Given the description of an element on the screen output the (x, y) to click on. 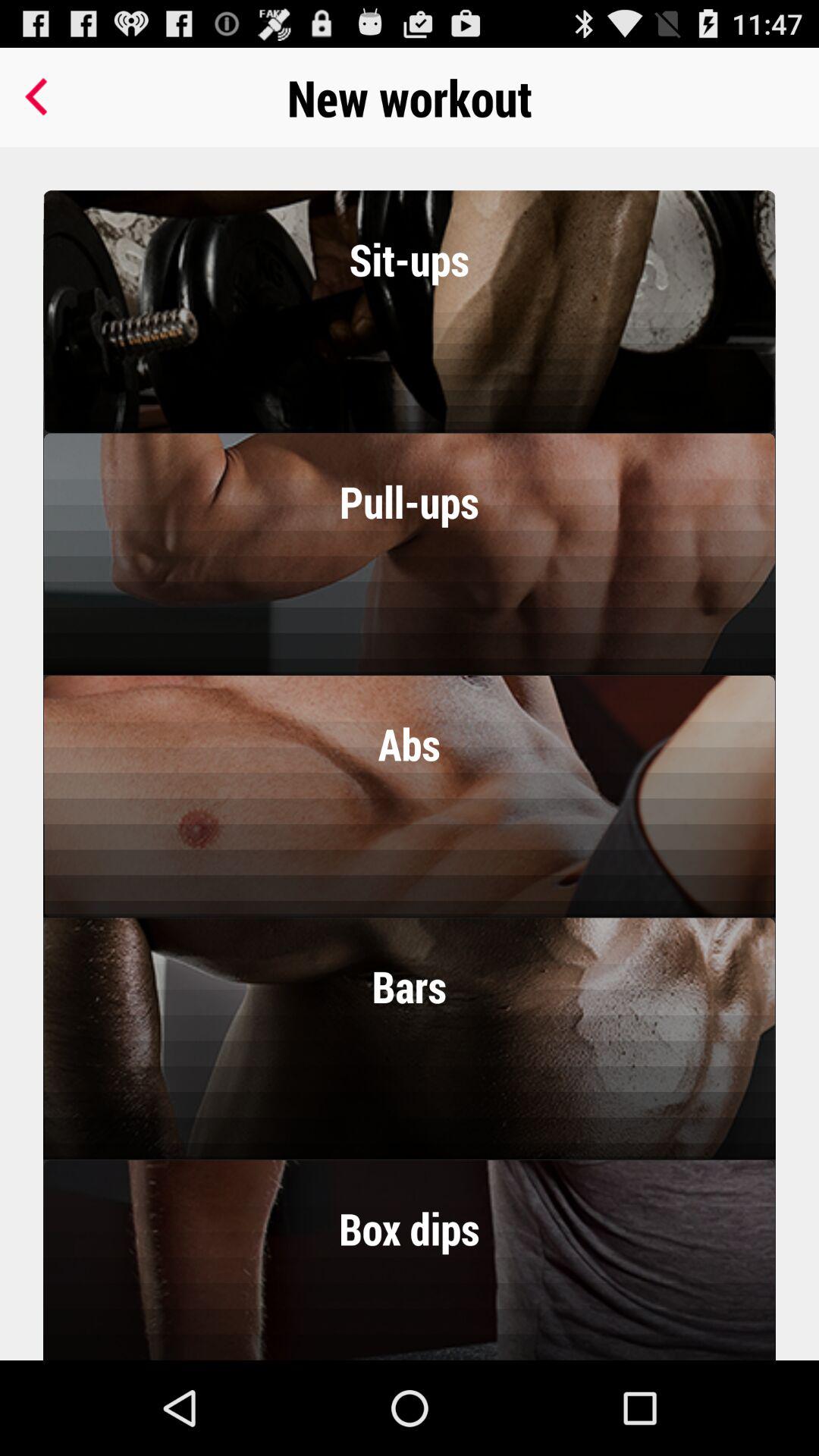
turn on the item to the left of the new workout app (39, 97)
